Given the description of an element on the screen output the (x, y) to click on. 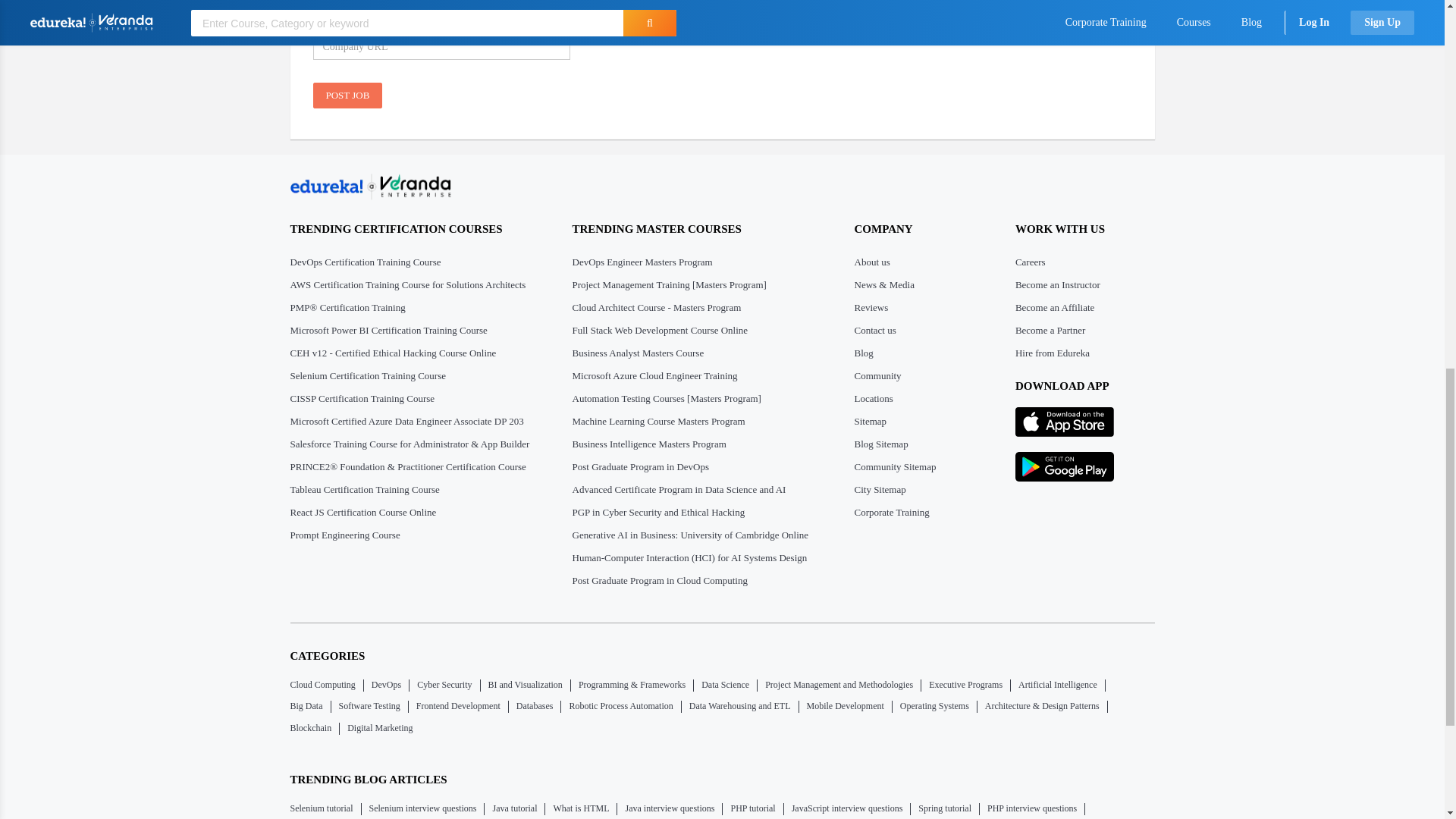
Post Job (347, 95)
